Given the description of an element on the screen output the (x, y) to click on. 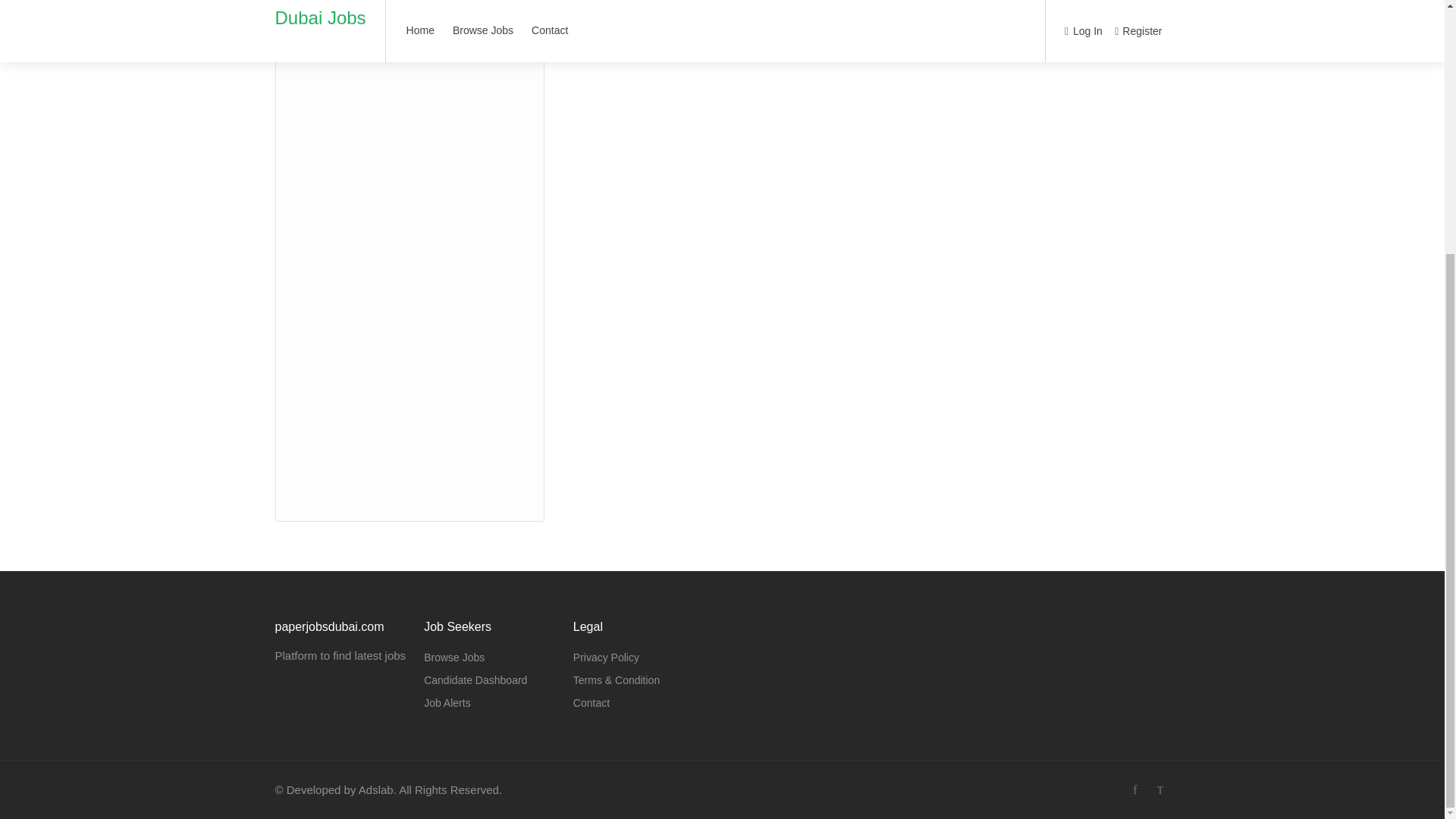
Candidate Dashboard (475, 680)
Contact (591, 702)
Browse Jobs (453, 657)
facebook (1134, 789)
Privacy Policy (606, 657)
twitter (1160, 789)
Job Alerts (446, 702)
Advertisement (409, 247)
